Given the description of an element on the screen output the (x, y) to click on. 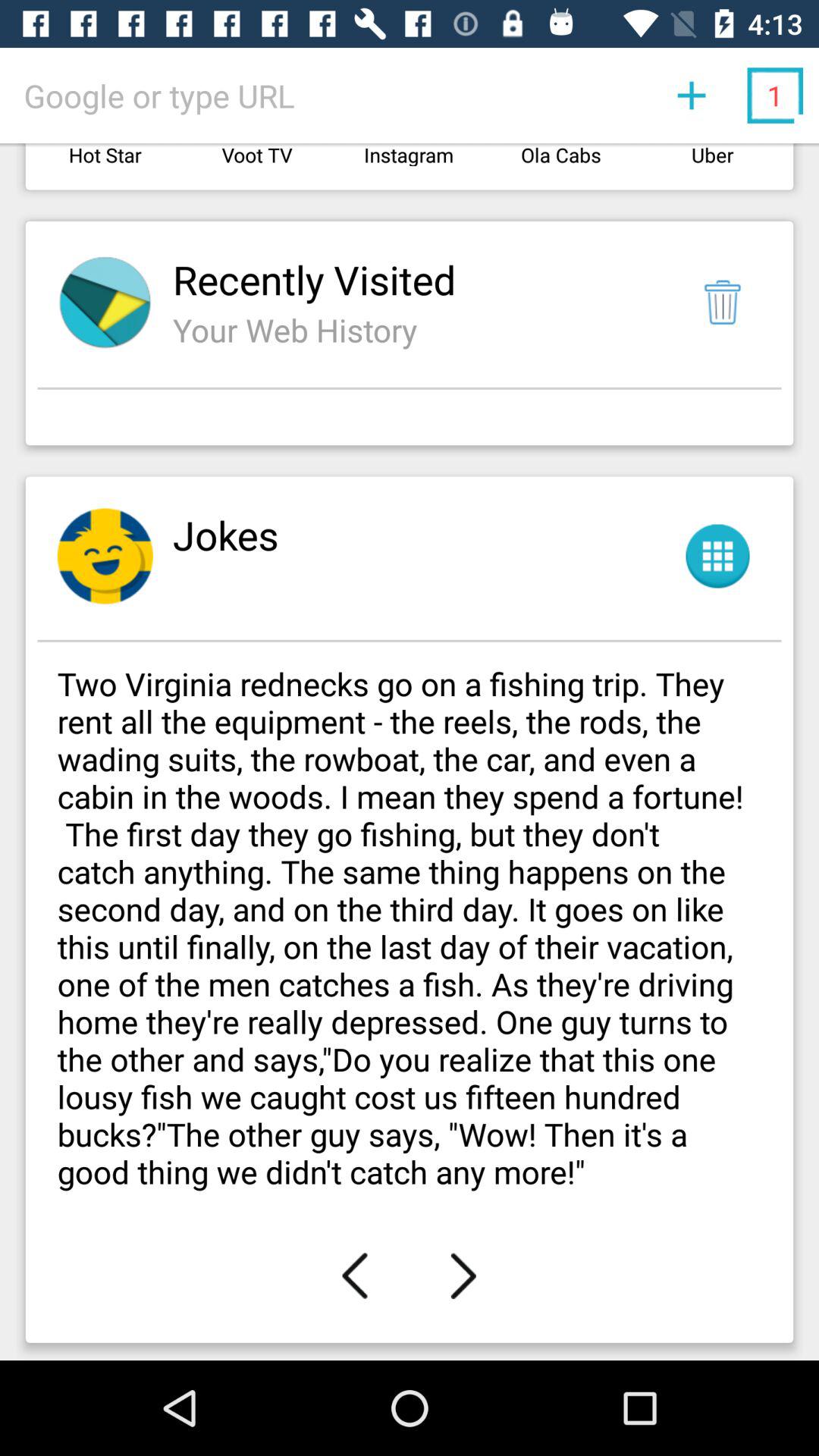
choose the icon below the two virginia rednecks app (354, 1275)
